Given the description of an element on the screen output the (x, y) to click on. 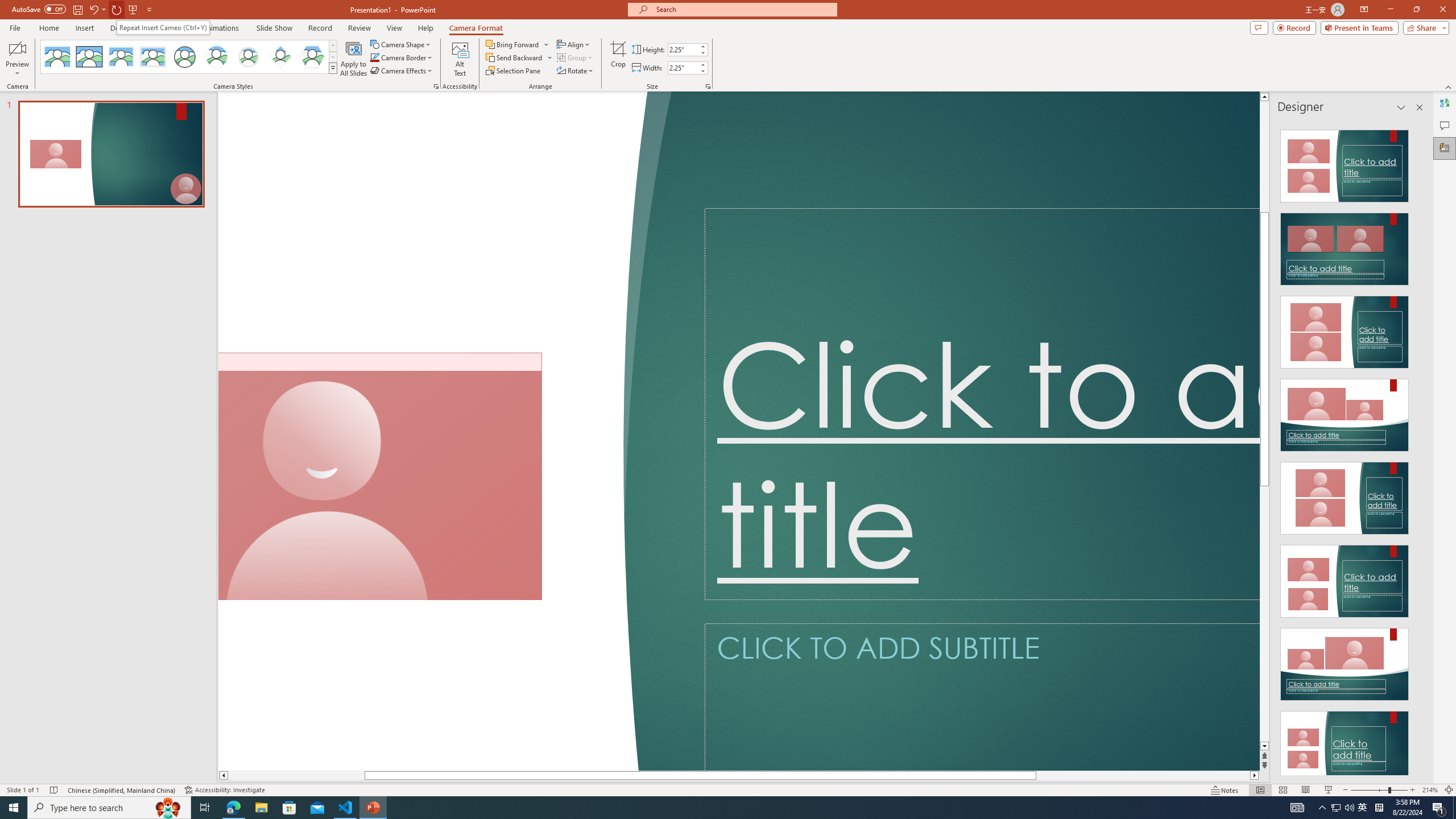
Ribbon Display Options (1364, 9)
Align (574, 44)
Zoom (1379, 790)
Simple Frame Circle (184, 56)
Cameo Height (682, 49)
Customize Quick Access Toolbar (149, 9)
Zoom In (1412, 790)
Soft Edge Rectangle (152, 56)
Zoom Out (1370, 790)
Close pane (1419, 107)
Center Shadow Circle (216, 56)
View (395, 28)
